Given the description of an element on the screen output the (x, y) to click on. 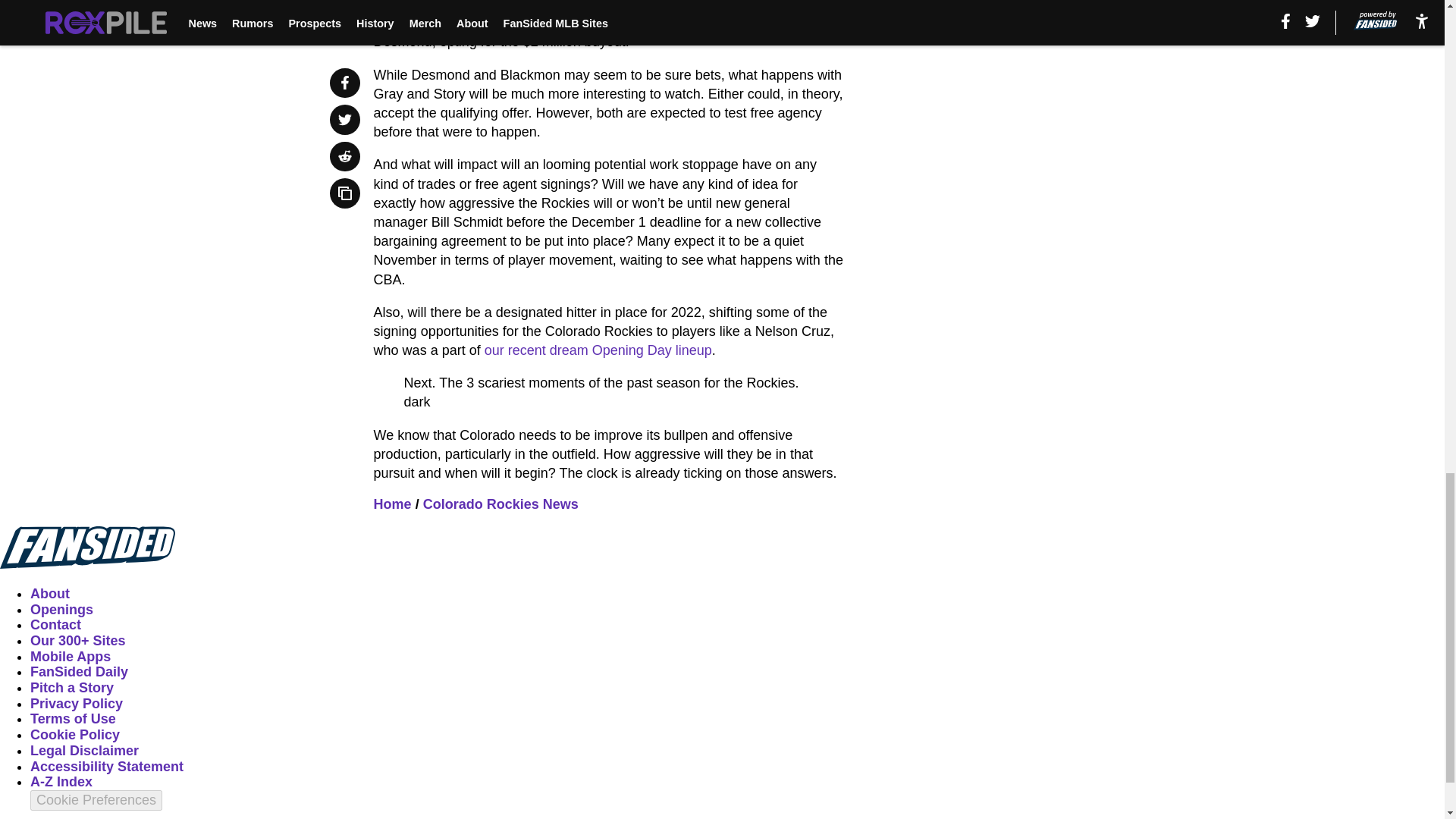
Openings (61, 609)
Contact (55, 624)
our recent dream Opening Day lineup (597, 350)
About (49, 593)
Mobile Apps (70, 656)
Home (393, 503)
Colorado Rockies News (500, 503)
